Given the description of an element on the screen output the (x, y) to click on. 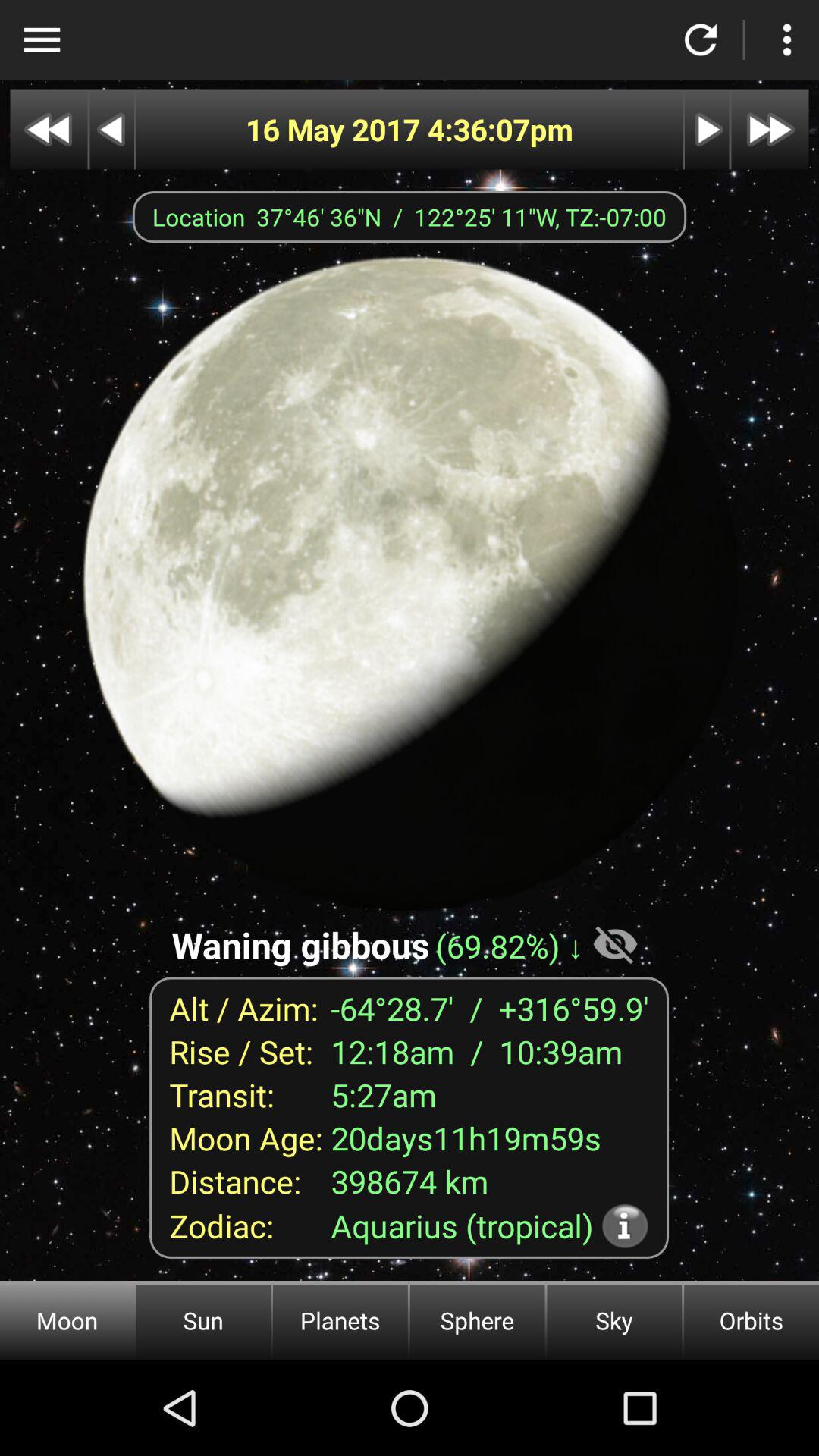
turn off icon next to the aquarius (tropical) item (624, 1225)
